Given the description of an element on the screen output the (x, y) to click on. 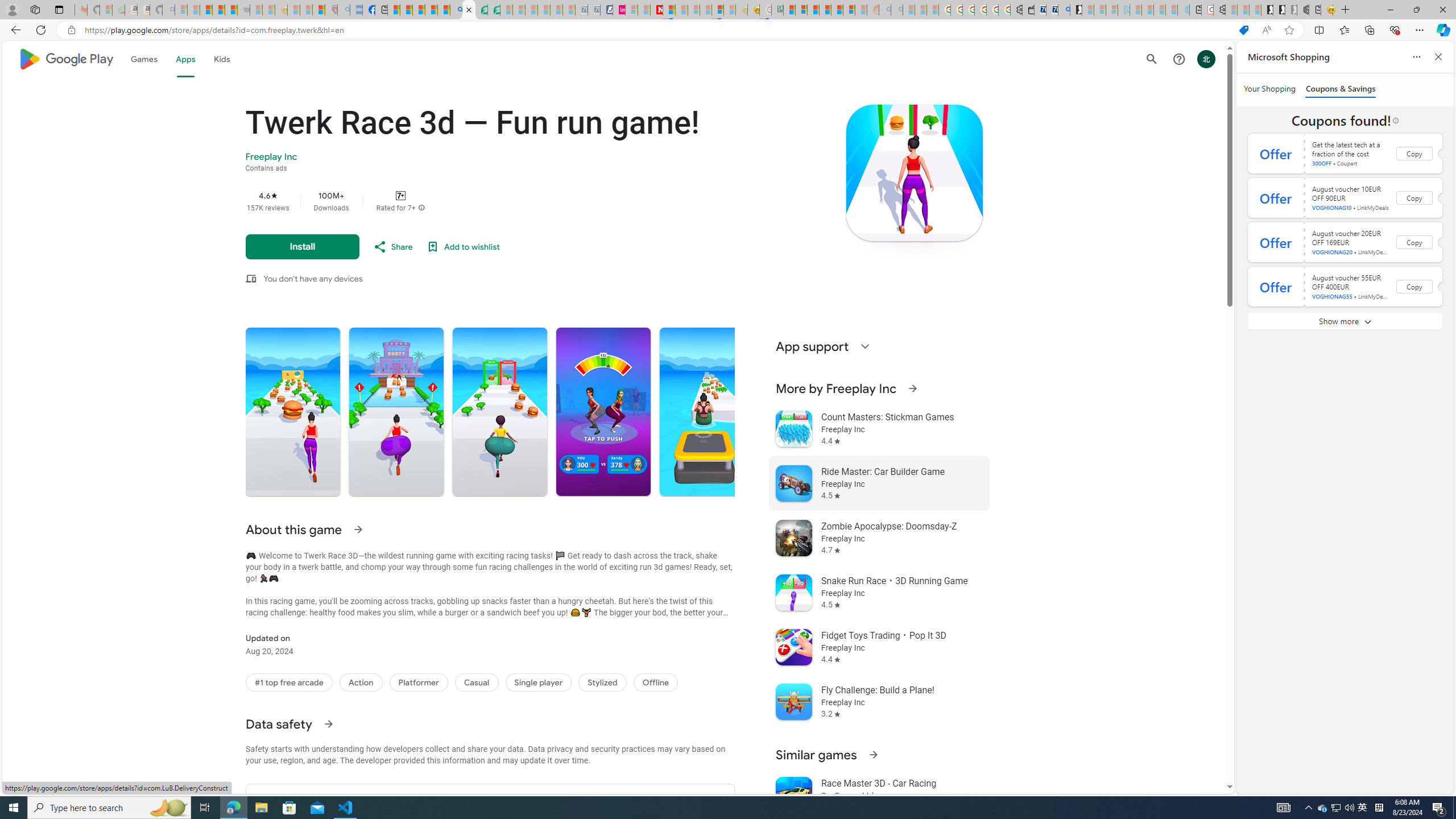
See more information on Similar games (872, 754)
Action (360, 682)
See more information on More by Freeplay Inc (912, 388)
Kids (220, 58)
Kinda Frugal - MSN (837, 9)
